Given the description of an element on the screen output the (x, y) to click on. 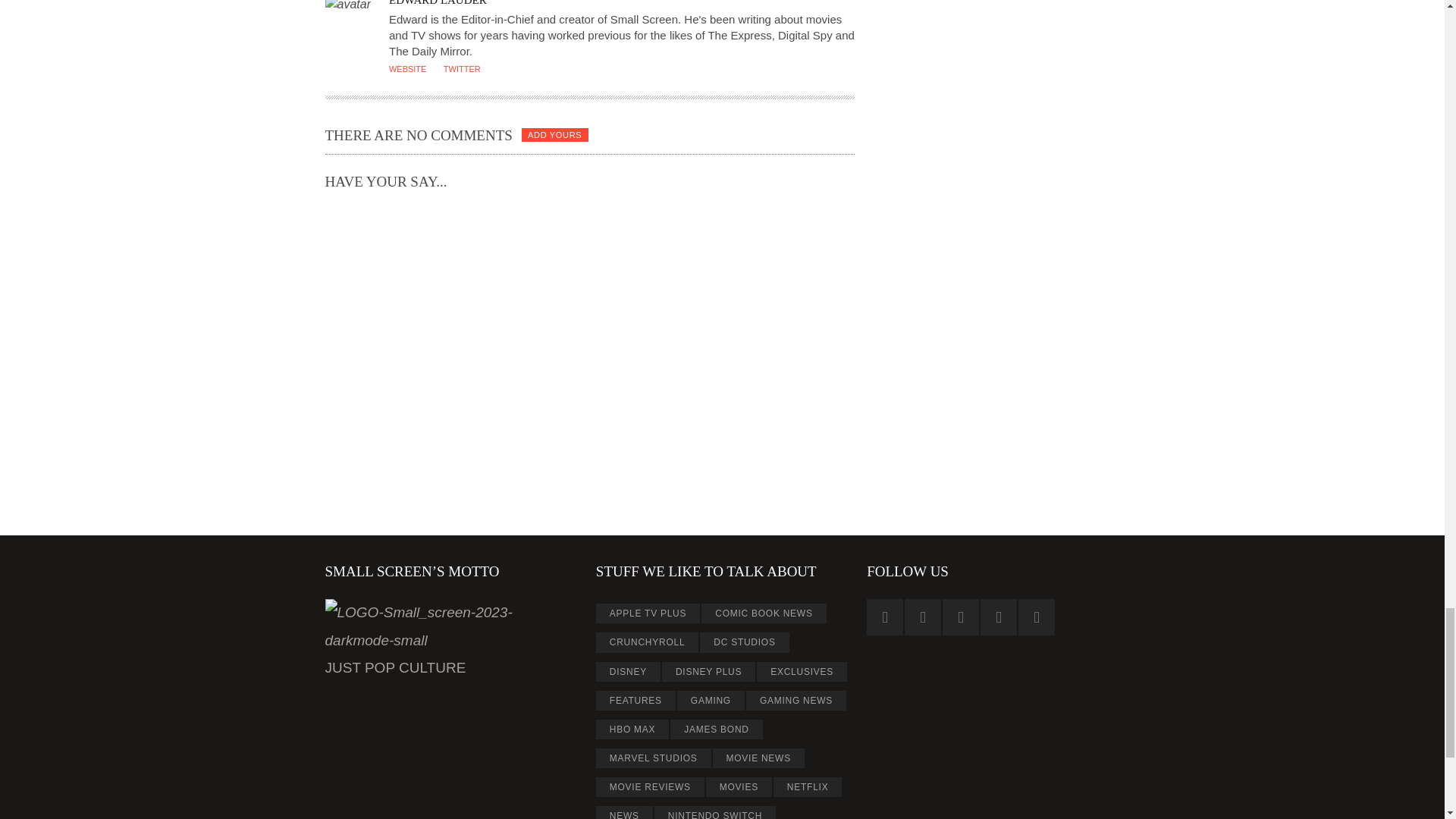
Posts by Edward Lauder (437, 2)
